Given the description of an element on the screen output the (x, y) to click on. 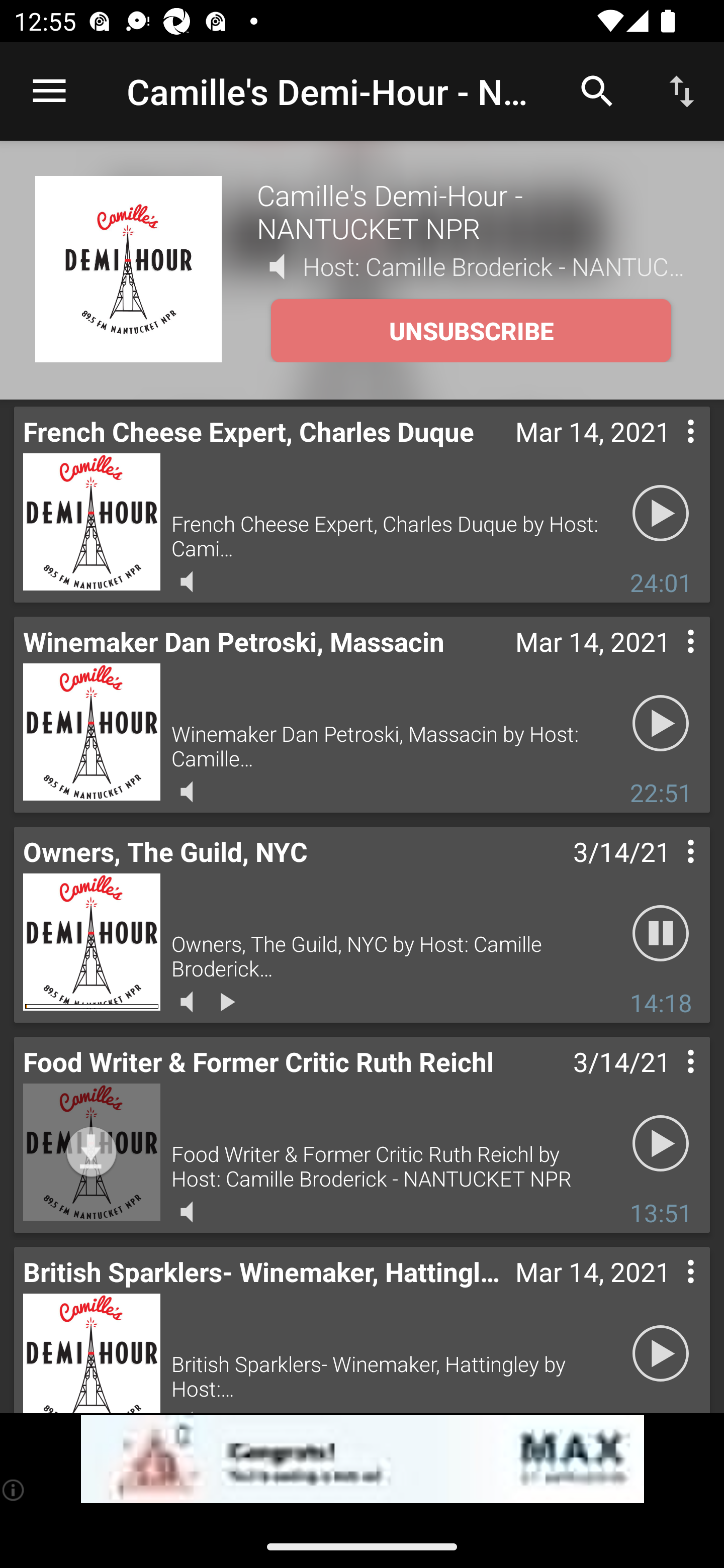
Open navigation sidebar (49, 91)
Search (597, 90)
Sort (681, 90)
UNSUBSCRIBE (470, 330)
Contextual menu (668, 451)
Play (660, 513)
Contextual menu (668, 661)
Play (660, 723)
Contextual menu (668, 870)
Pause (660, 933)
Contextual menu (668, 1080)
Play (660, 1143)
Contextual menu (668, 1290)
Play (660, 1353)
app-monetization (362, 1459)
(i) (14, 1489)
